Given the description of an element on the screen output the (x, y) to click on. 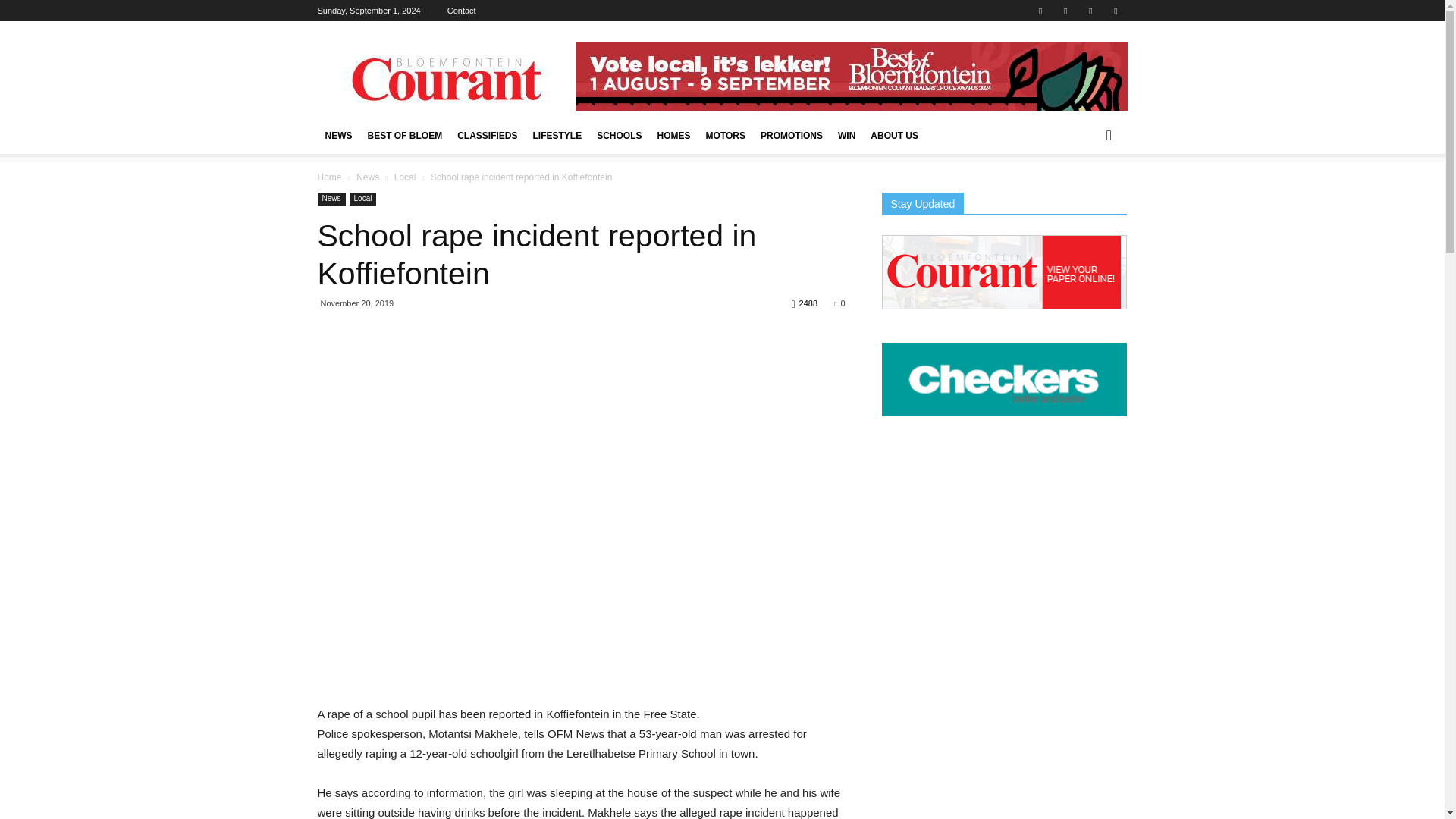
Facebook (1040, 10)
Twitter (1090, 10)
Bloemfontein Courant - News you can use (445, 76)
Youtube (1114, 10)
Mail (1065, 10)
